Given the description of an element on the screen output the (x, y) to click on. 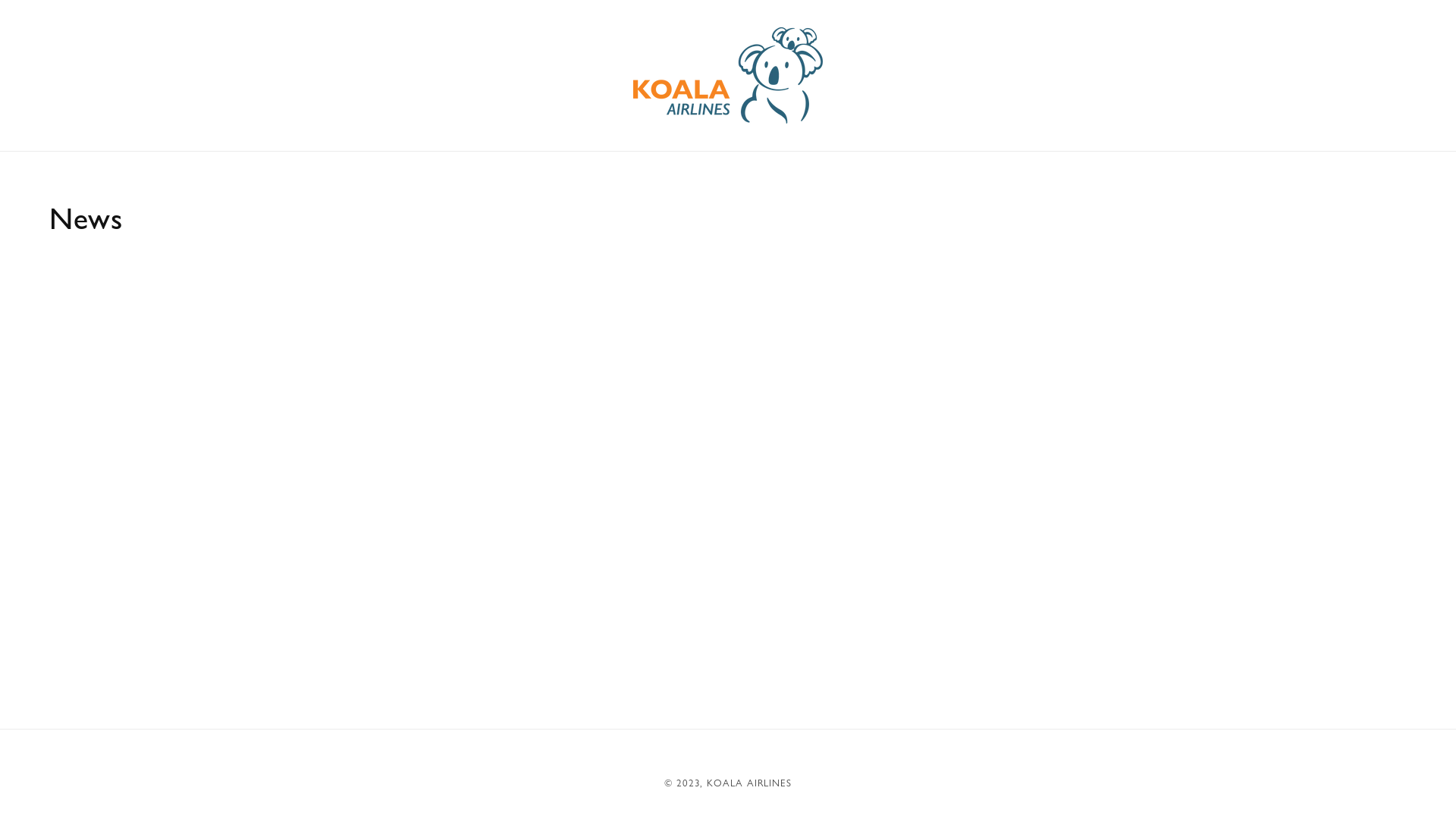
KOALA AIRLINES Element type: text (748, 782)
